Given the description of an element on the screen output the (x, y) to click on. 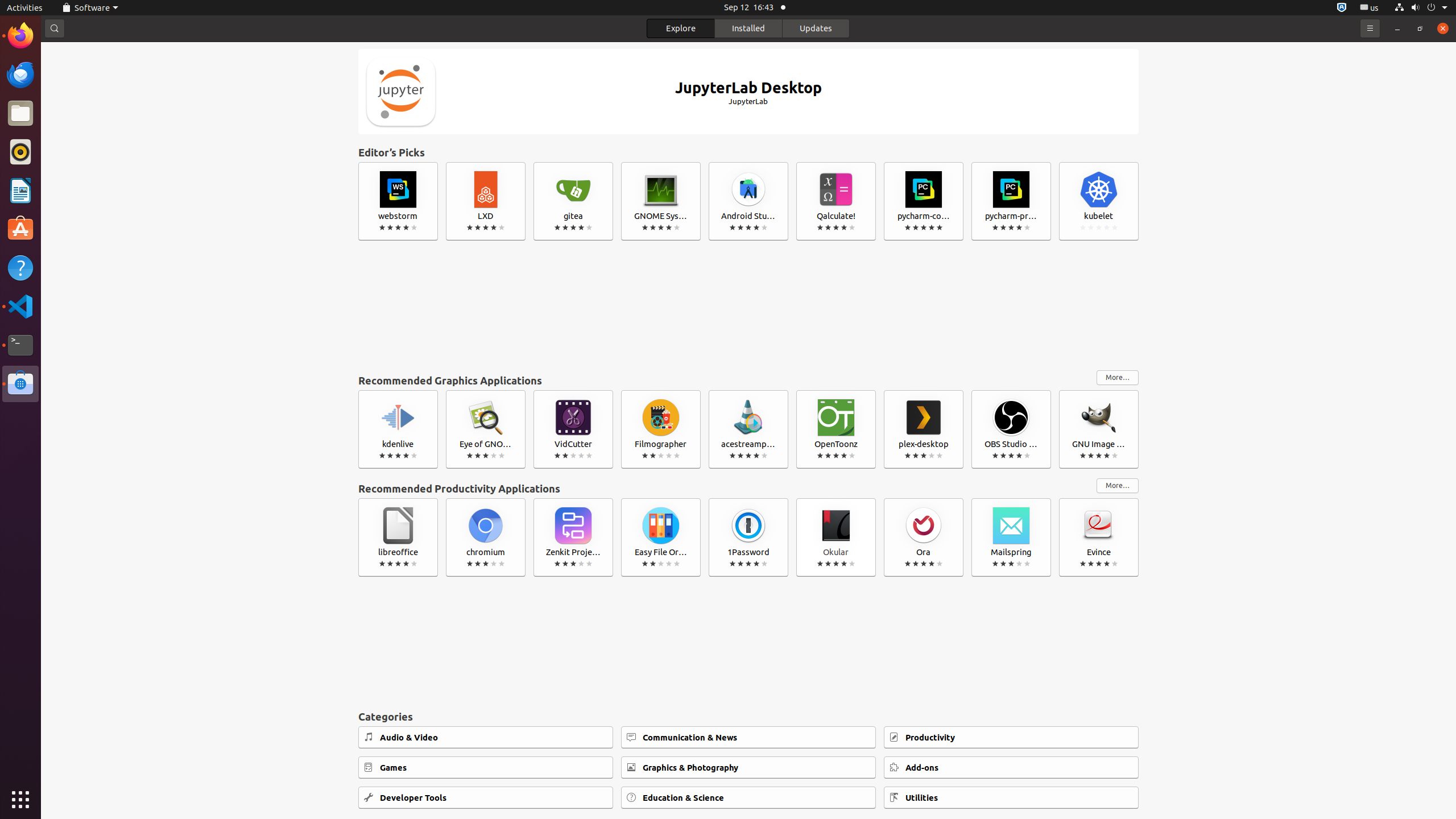
LXD Element type: push-button (485, 201)
Close Element type: push-button (1442, 27)
gitea Element type: push-button (573, 201)
Easy File Organizer Element type: push-button (660, 537)
